Given the description of an element on the screen output the (x, y) to click on. 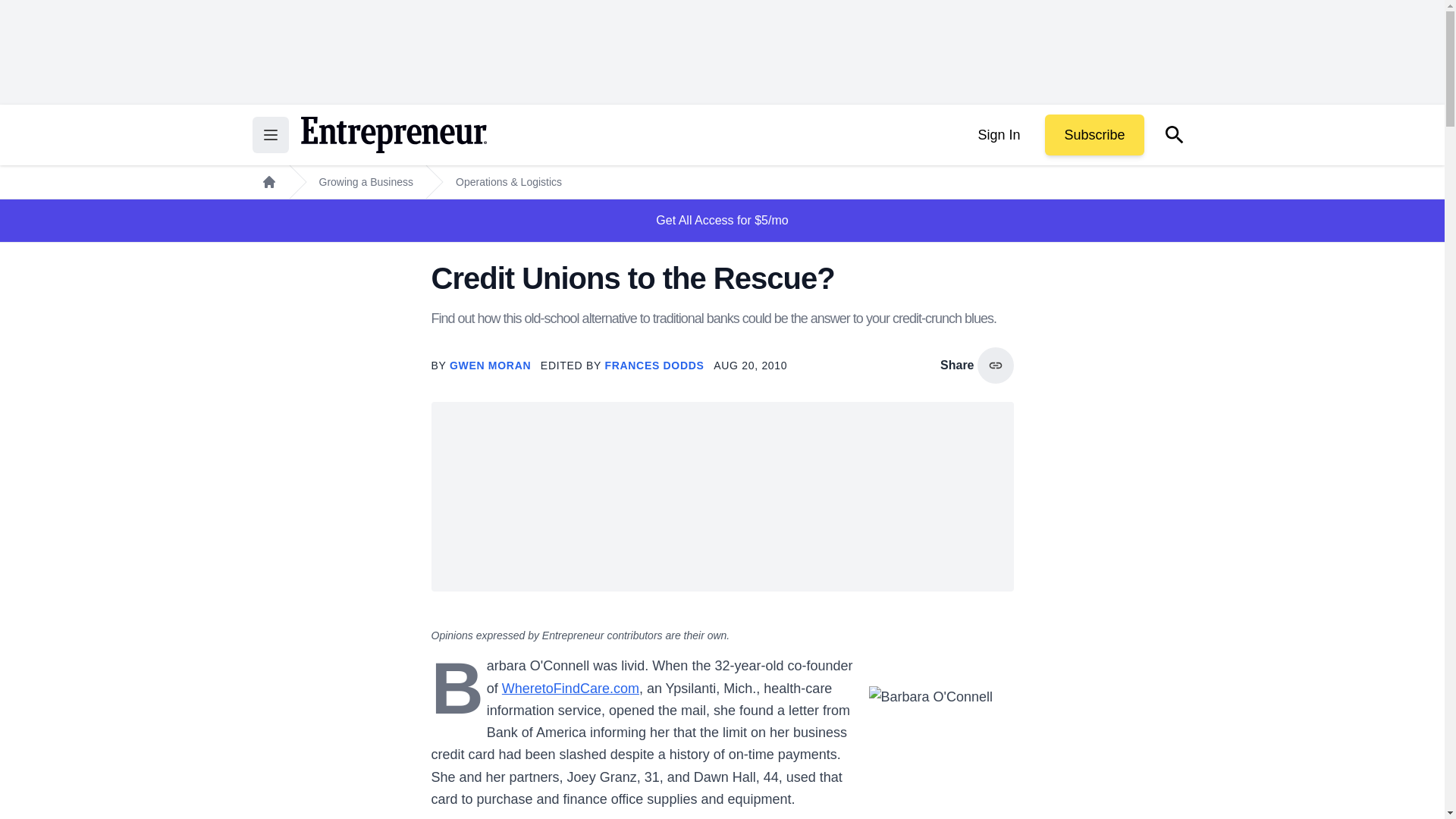
copy (994, 365)
Sign In (998, 134)
Return to the home page (392, 135)
Subscribe (1093, 134)
